Given the description of an element on the screen output the (x, y) to click on. 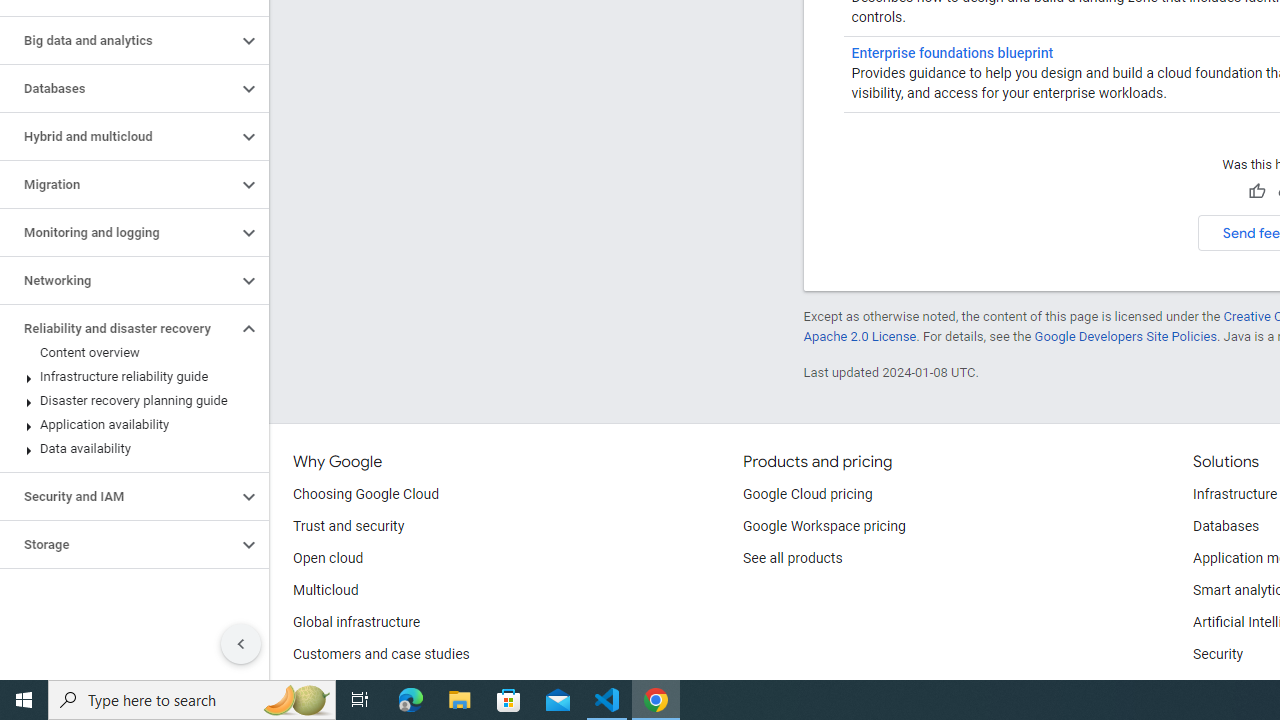
Security and IAM (118, 497)
Google Workspace pricing (824, 526)
Storage (118, 544)
Data availability (130, 448)
Content overview (130, 353)
Customers and case studies (381, 655)
Big data and analytics (118, 40)
Security (1218, 655)
Disaster recovery planning guide (130, 400)
Analyst reports (340, 686)
Databases (118, 88)
See all products (792, 558)
Hybrid and multicloud (118, 137)
Hide side navigation (241, 643)
